Given the description of an element on the screen output the (x, y) to click on. 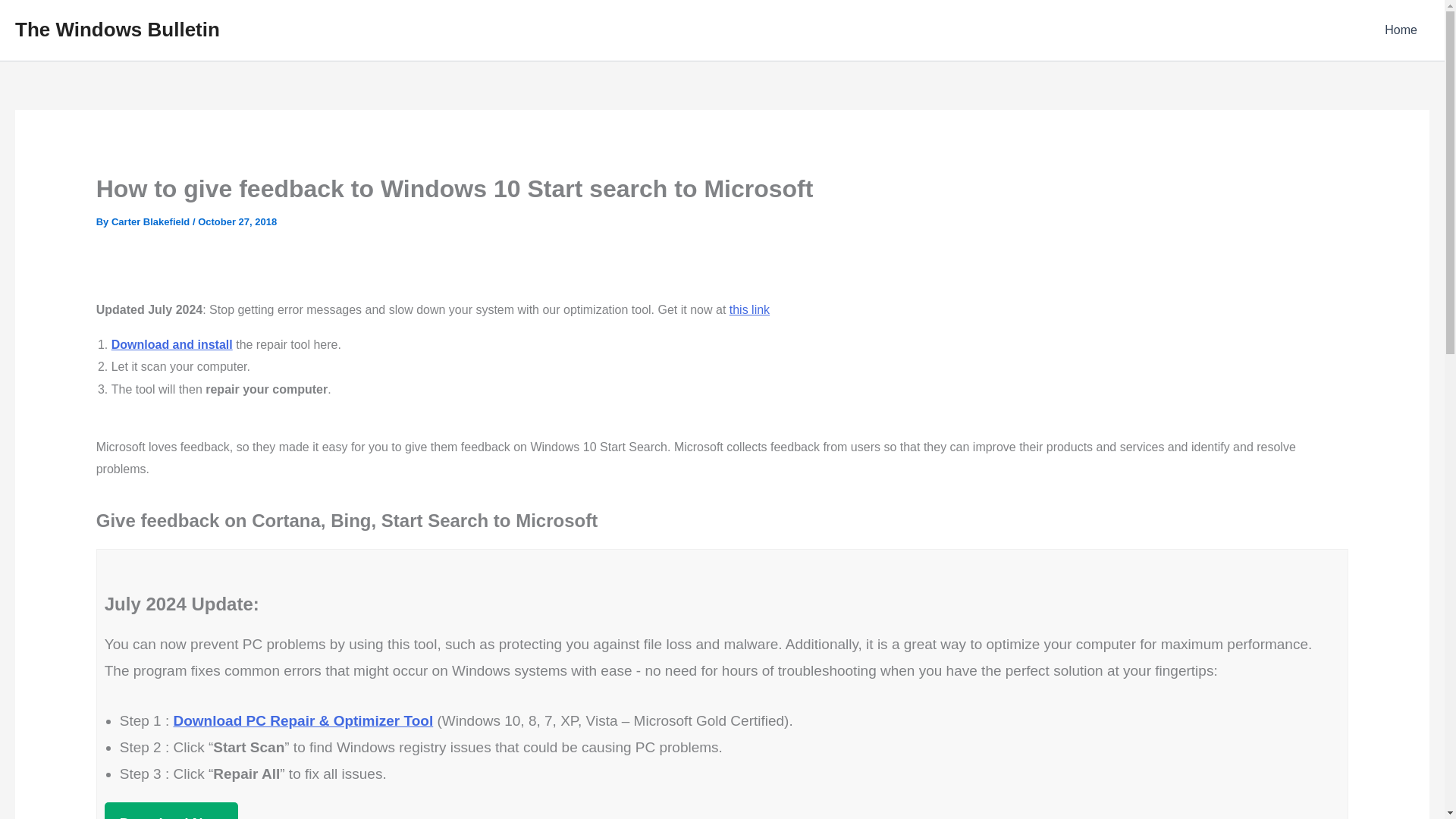
Home (1401, 30)
this link (749, 309)
Download and install (172, 344)
Download Now (171, 810)
Carter Blakefield (152, 221)
The Windows Bulletin (116, 29)
View all posts by Carter Blakefield (152, 221)
